Given the description of an element on the screen output the (x, y) to click on. 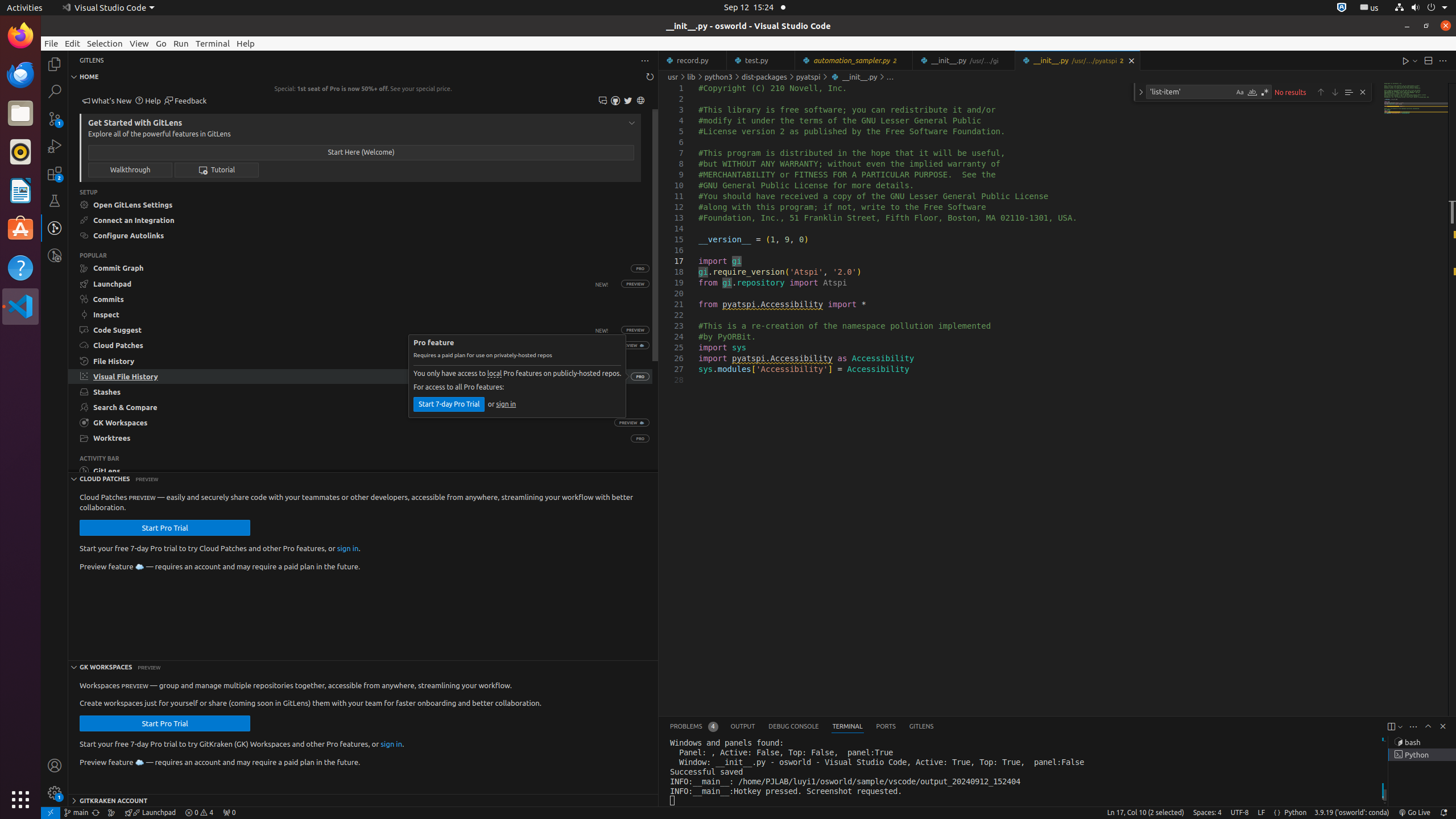
Extensions (Ctrl+Shift+X) - 2 require restart Extensions (Ctrl+Shift+X) - 2 require restart Element type: page-tab (54, 173)
test.py Element type: page-tab (760, 60)
Special: 1st seat of Pro is now 50%+ off. See your special price. Element type: link (362, 88)
Start Pro Trial Element type: push-button (164, 527)
Hide Panel Element type: push-button (1442, 726)
